Given the description of an element on the screen output the (x, y) to click on. 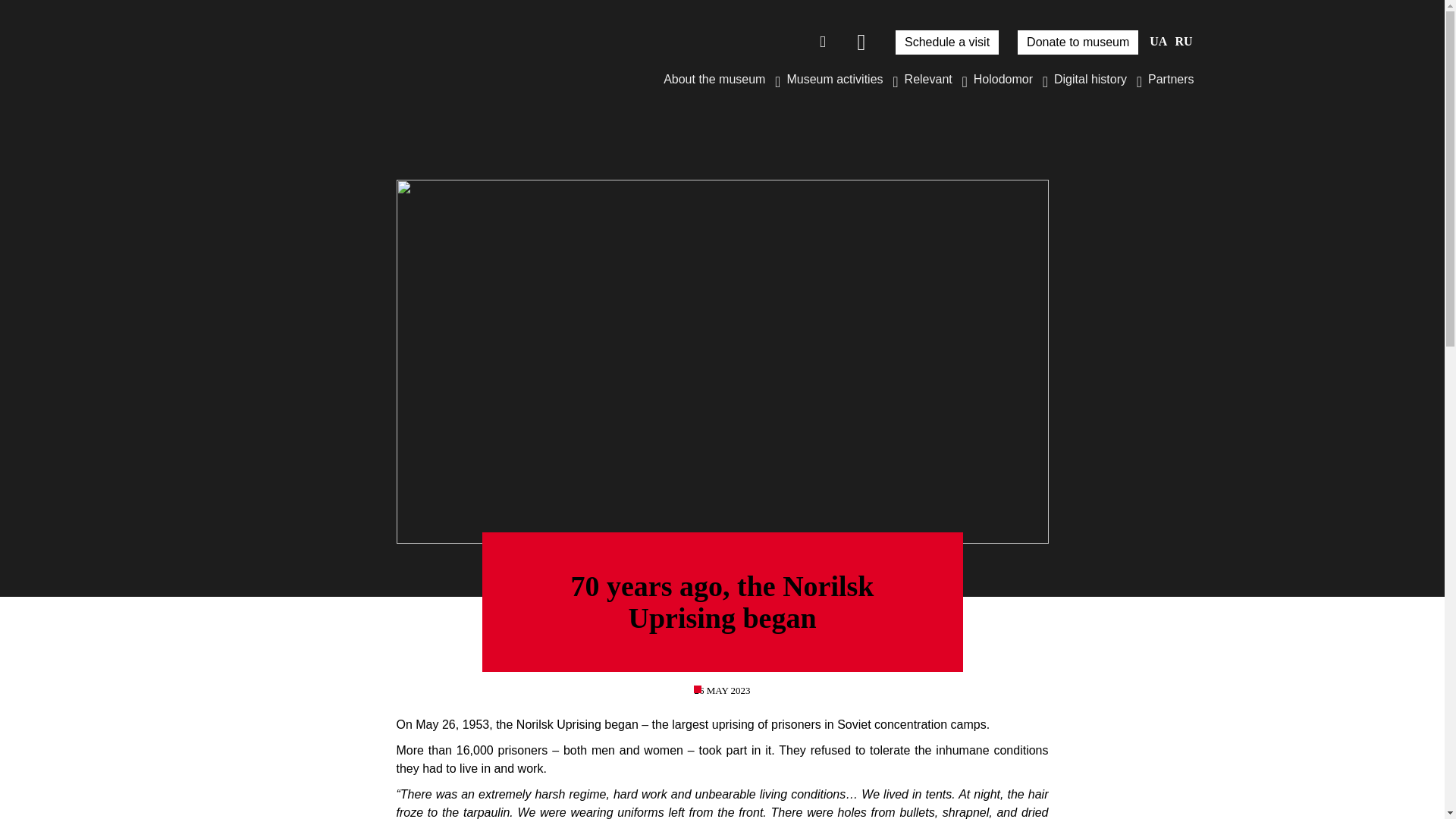
Museum activities (839, 79)
Donate to museum (1077, 42)
Schedule a visit (946, 42)
UA (1158, 41)
About the museum (719, 79)
Relevant (933, 79)
RU (1183, 41)
Choose a convenient version for viewing (861, 41)
